Given the description of an element on the screen output the (x, y) to click on. 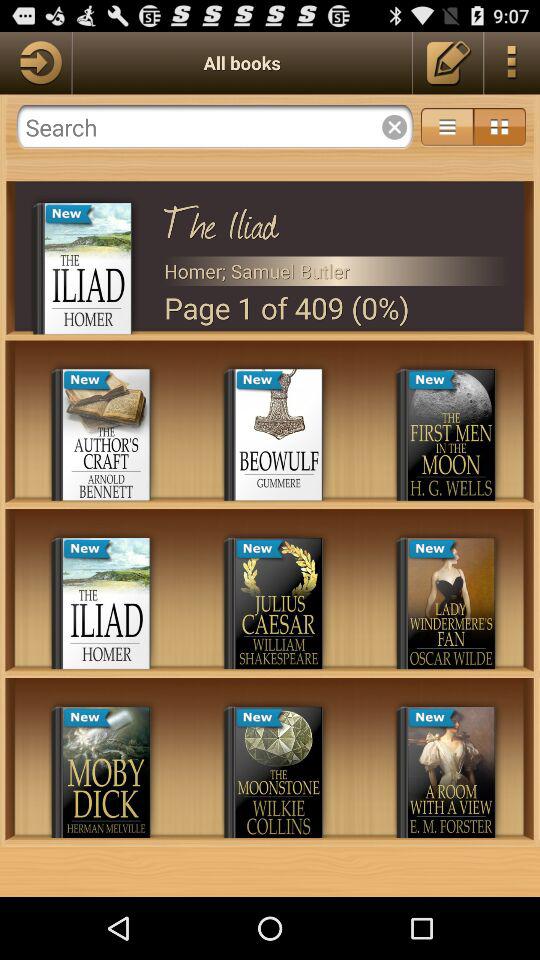
press the app below the all books icon (214, 127)
